Given the description of an element on the screen output the (x, y) to click on. 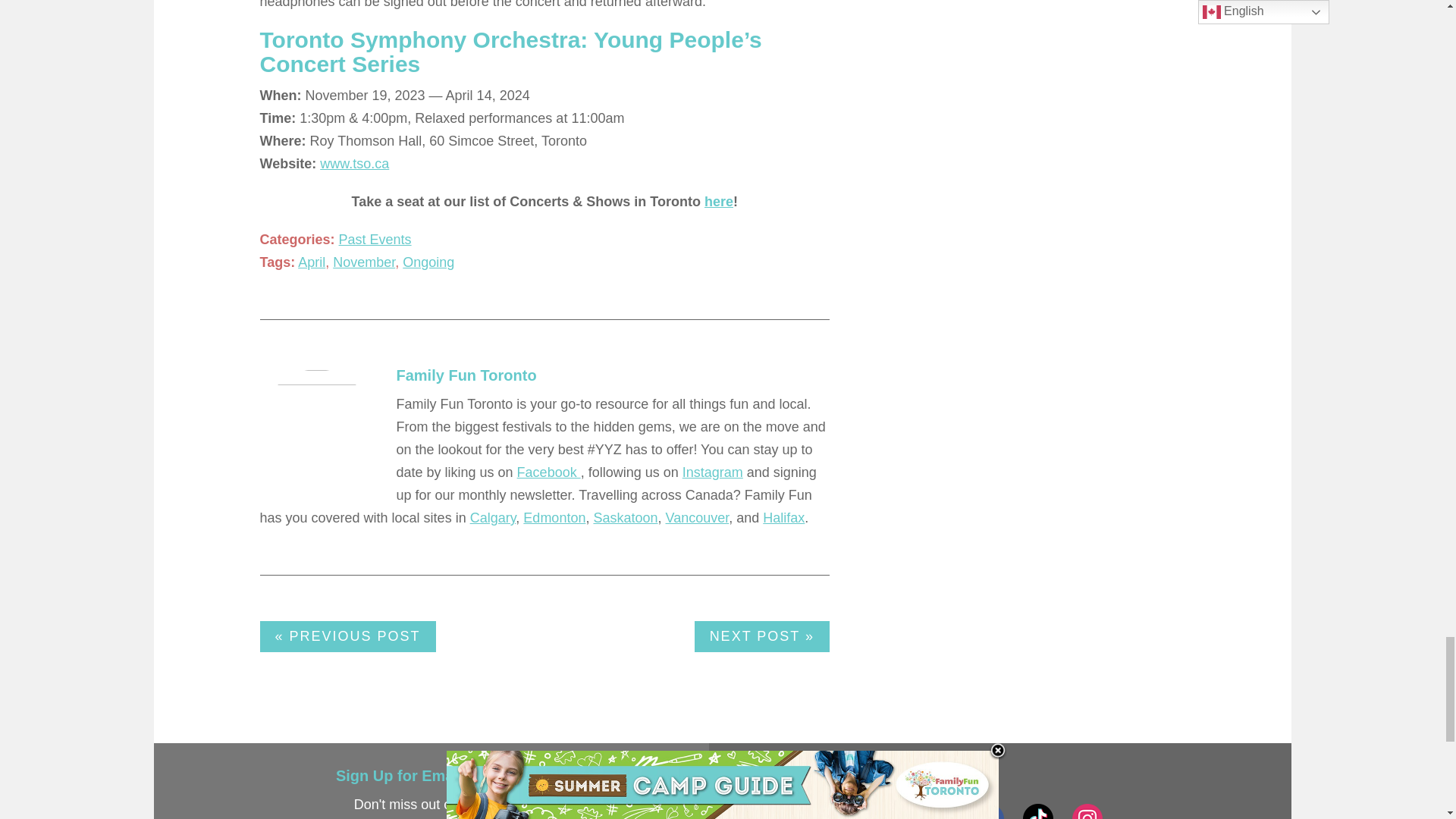
TikTok (1037, 811)
Email (939, 811)
Facebook (989, 811)
Posts by Family Fun Toronto (465, 375)
Instagram (1086, 811)
